Given the description of an element on the screen output the (x, y) to click on. 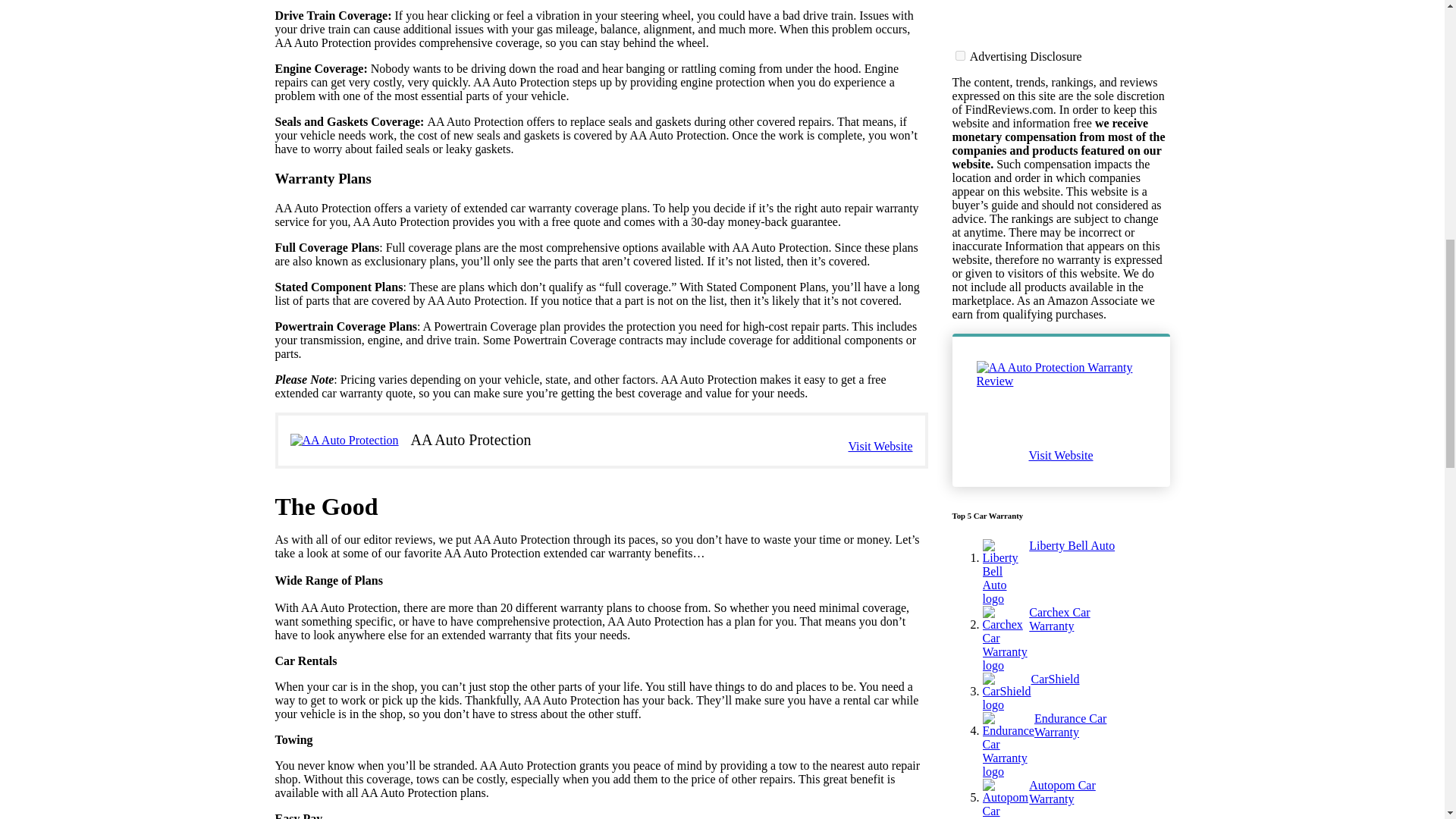
Visit Website (879, 446)
Endurance Car Warranty (1076, 11)
Autopom Car Warranty (1076, 56)
